Given the description of an element on the screen output the (x, y) to click on. 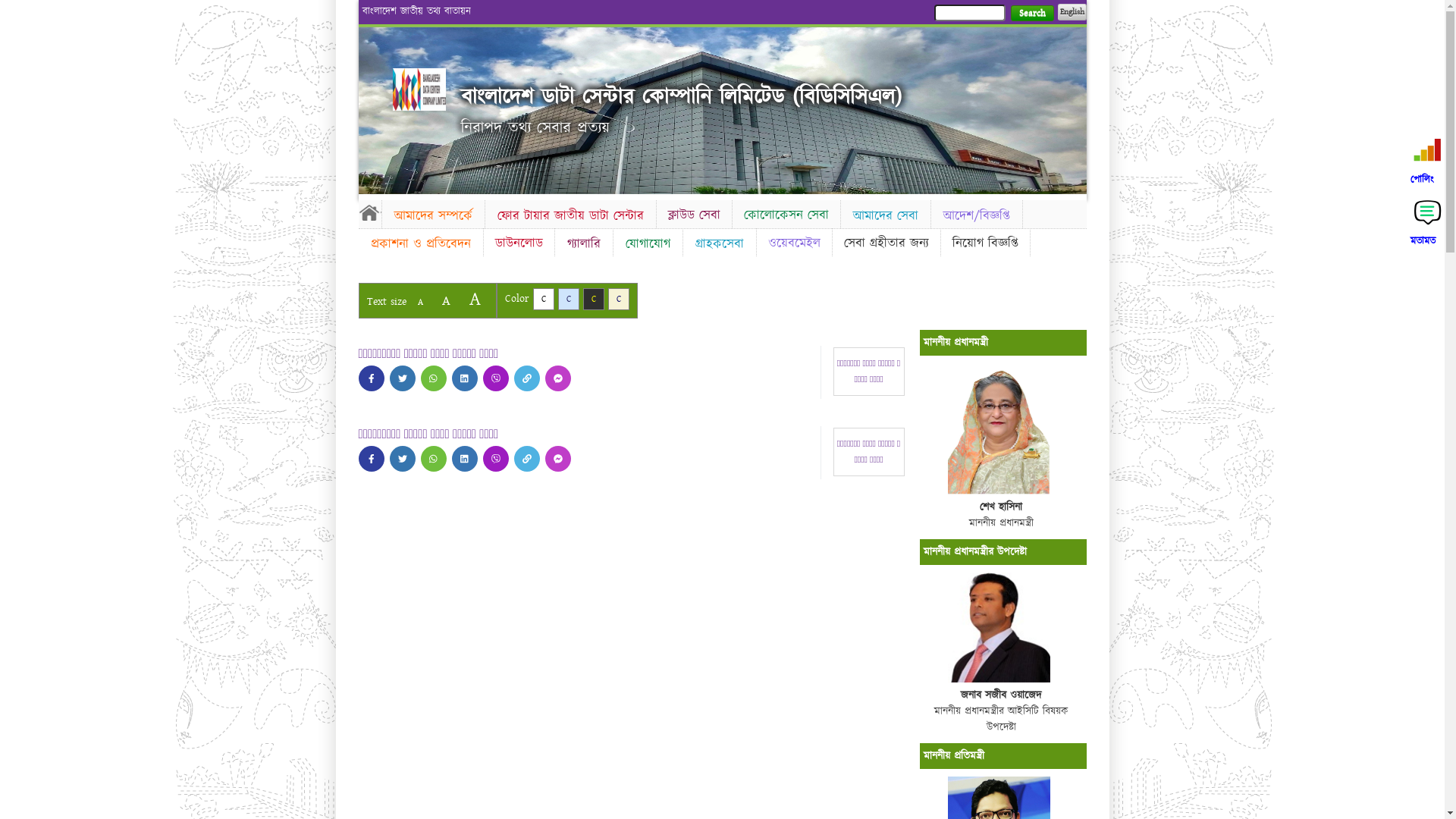
English Element type: text (1071, 11)
Home Element type: hover (418, 89)
A Element type: text (445, 300)
Search Element type: text (1031, 13)
C Element type: text (542, 299)
A Element type: text (419, 301)
C Element type: text (618, 299)
A Element type: text (474, 298)
C Element type: text (592, 299)
Home Element type: hover (368, 211)
C Element type: text (568, 299)
